Given the description of an element on the screen output the (x, y) to click on. 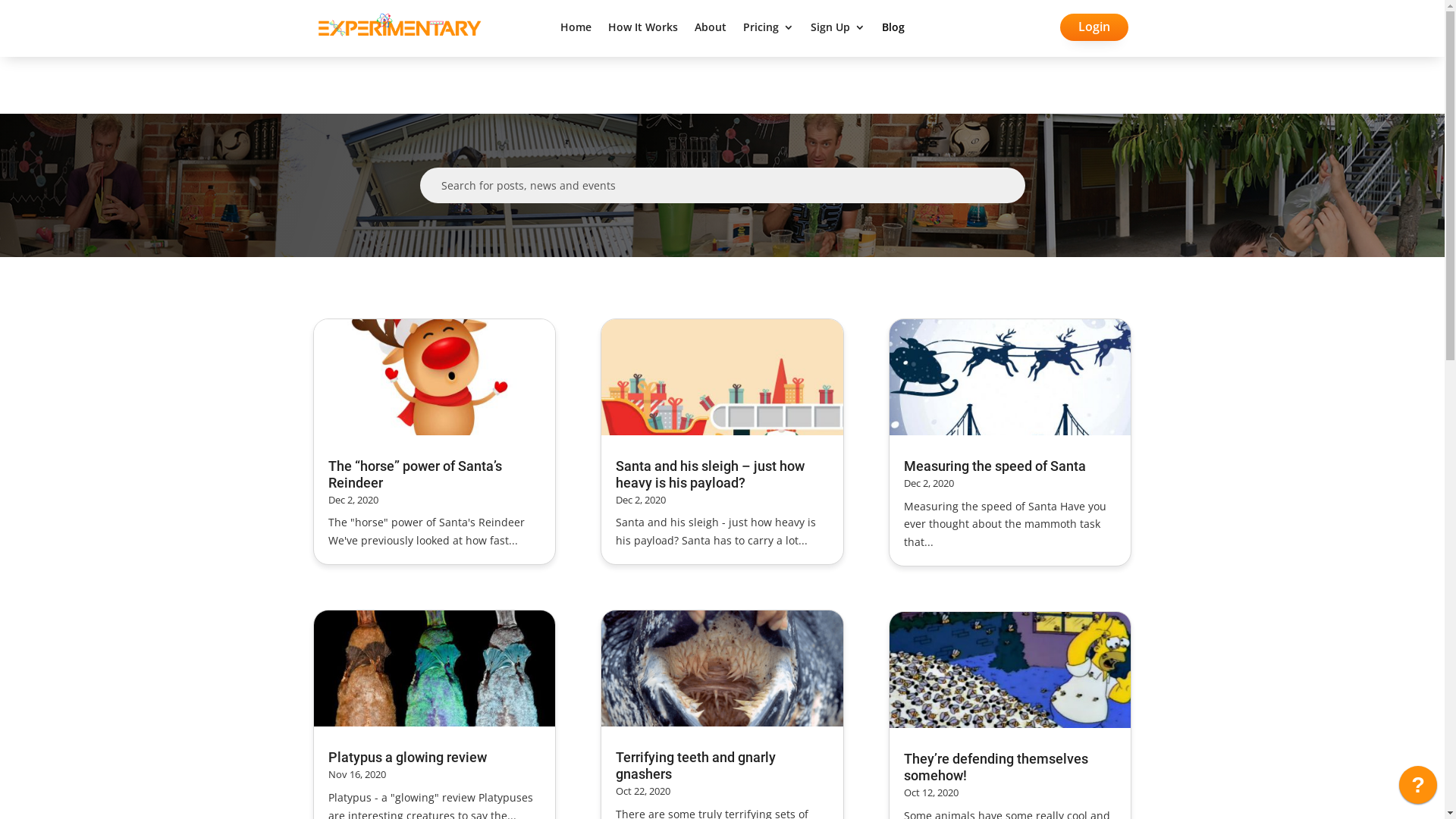
Search Element type: text (25, 17)
Pricing Element type: text (768, 29)
Home Element type: text (575, 29)
Sign Up Element type: text (837, 29)
Platypus a glowing review Element type: text (406, 757)
Login Element type: text (1094, 27)
How It Works Element type: text (642, 29)
About Element type: text (710, 29)
Blog Element type: text (892, 29)
Terrifying teeth and gnarly gnashers Element type: text (695, 765)
Measuring the speed of Santa Element type: text (994, 465)
